Given the description of an element on the screen output the (x, y) to click on. 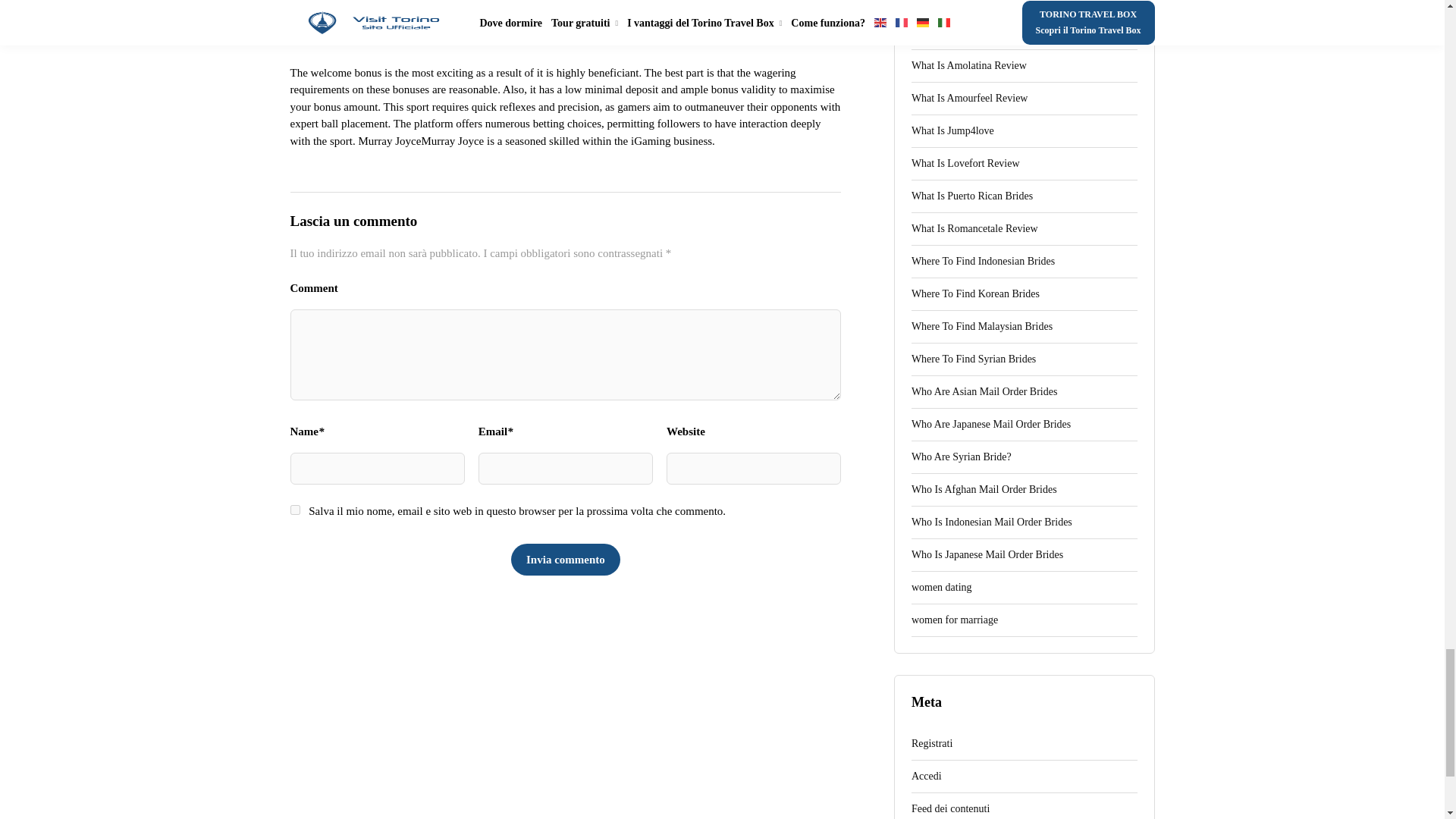
yes (294, 510)
Invia commento (565, 559)
Invia commento (565, 559)
